Given the description of an element on the screen output the (x, y) to click on. 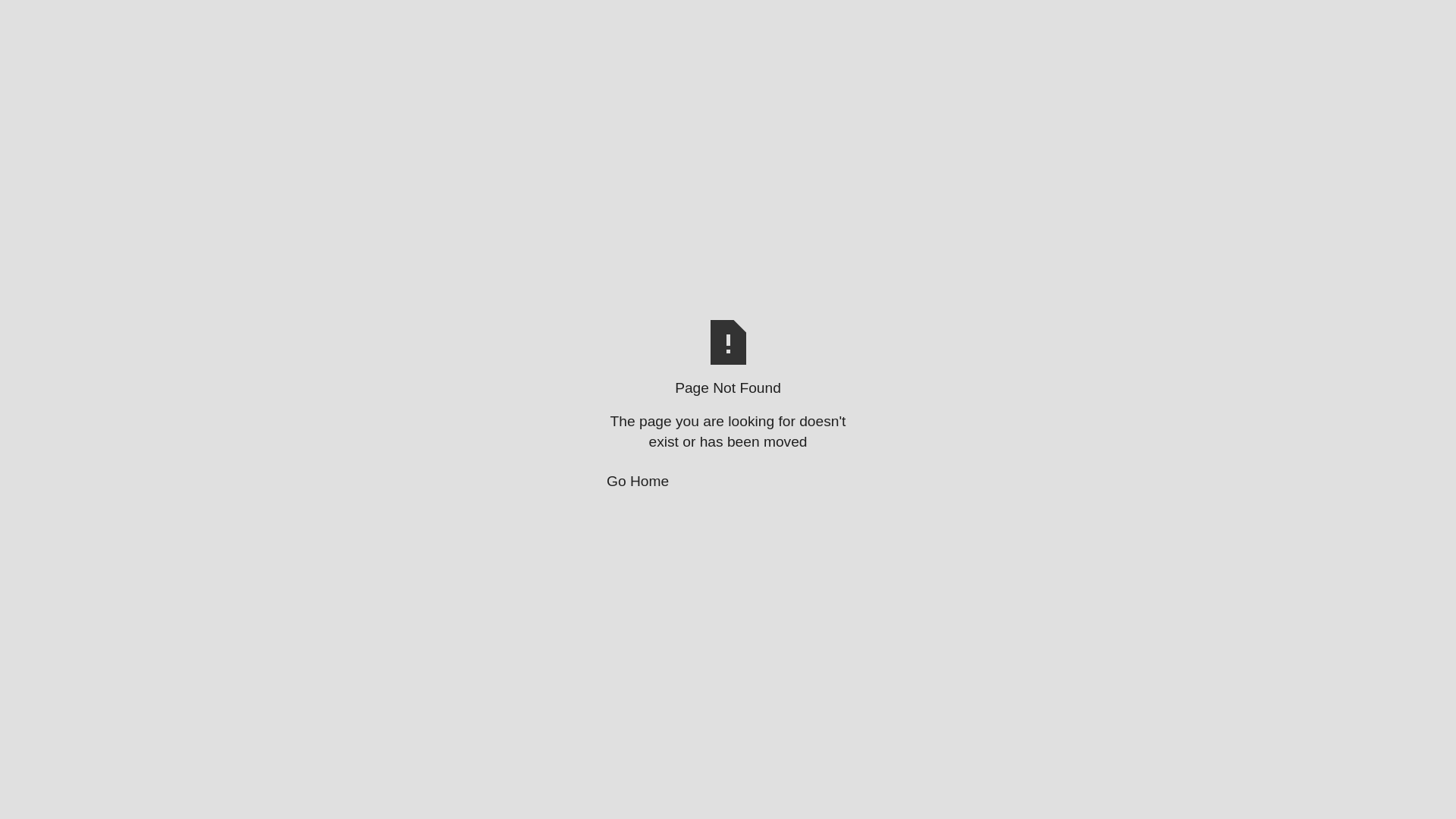
Go Home Element type: text (727, 481)
